Given the description of an element on the screen output the (x, y) to click on. 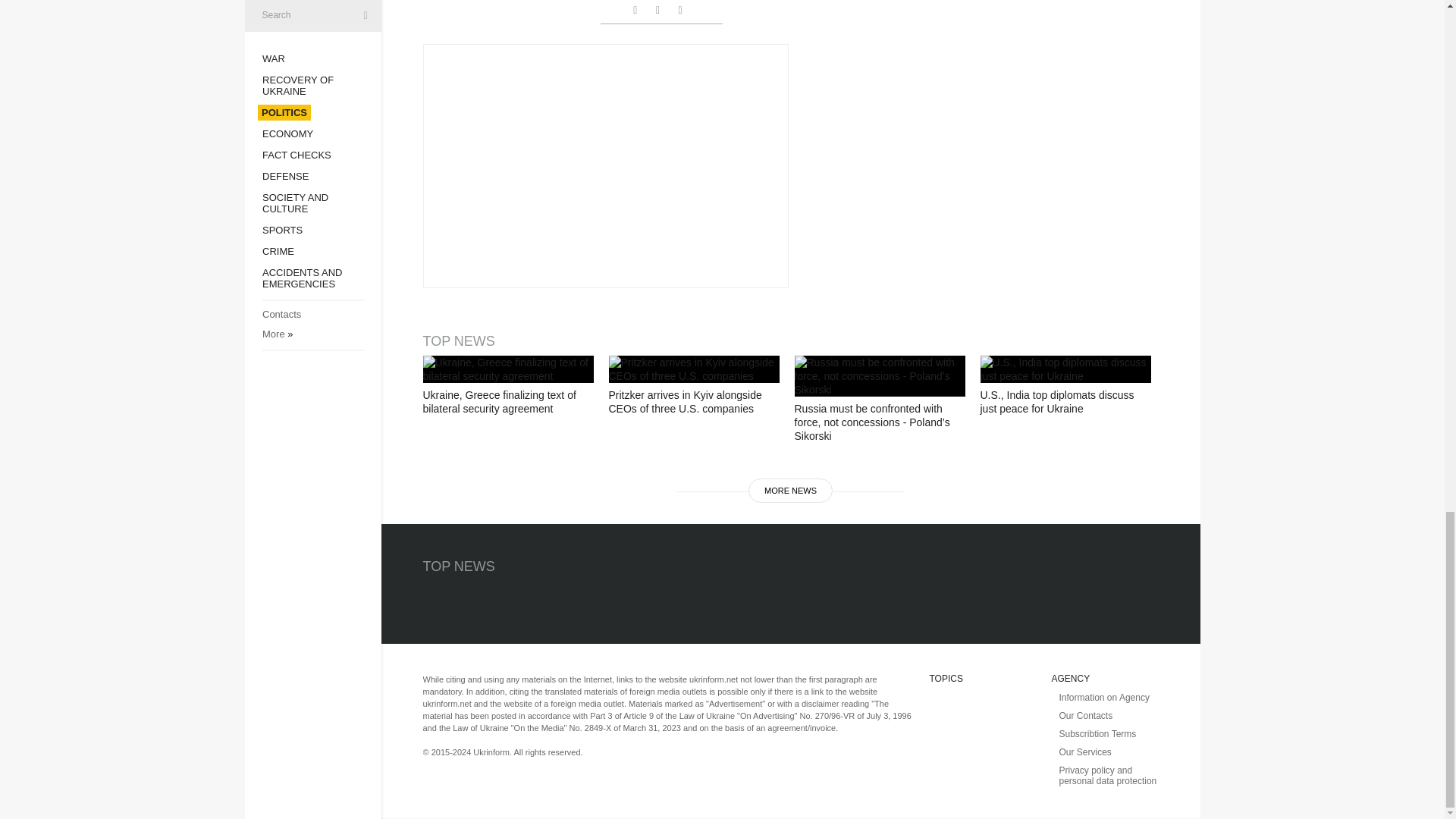
U.S., India top diplomats discuss just peace for Ukraine (1064, 369)
